Given the description of an element on the screen output the (x, y) to click on. 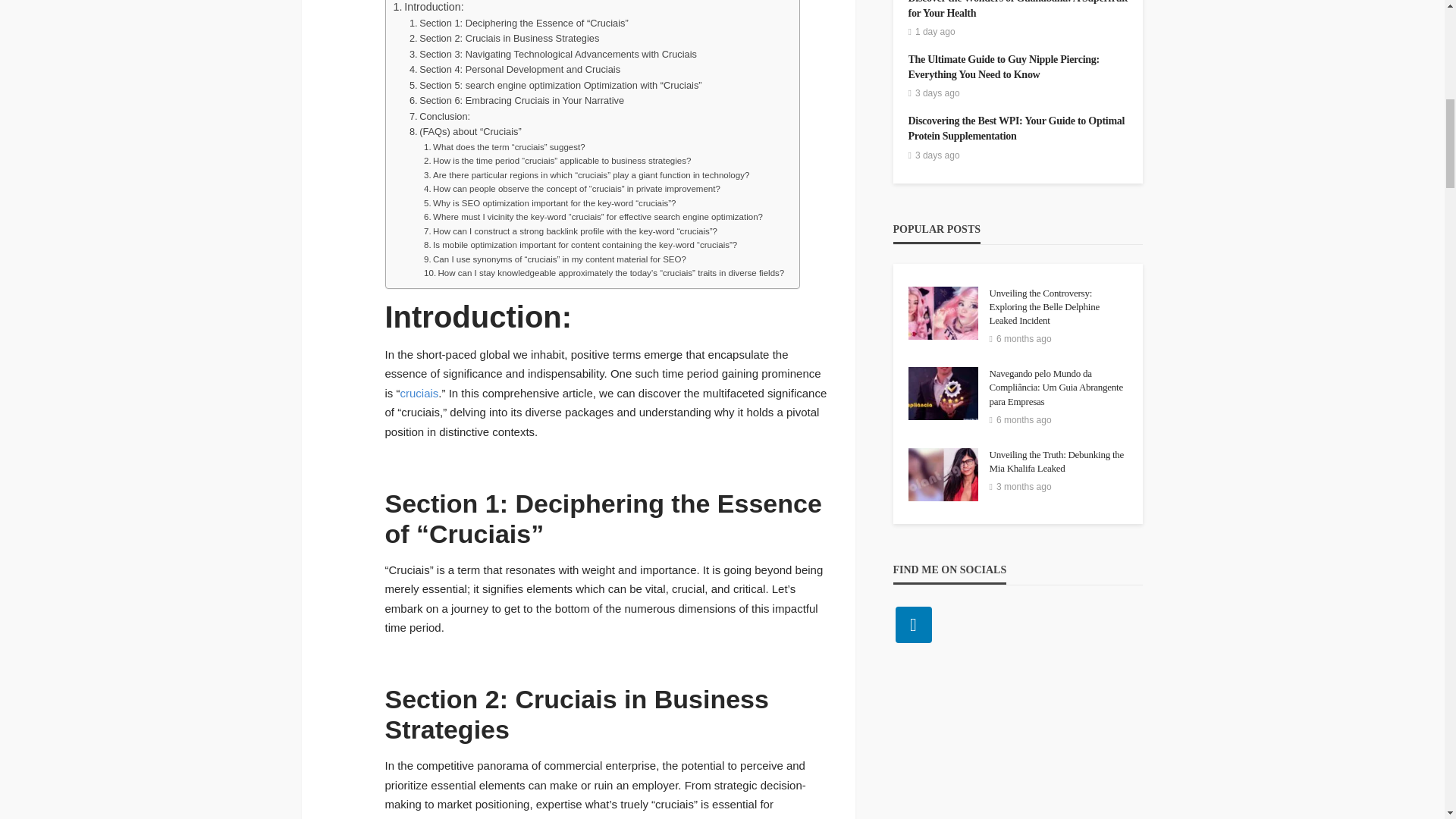
Introduction: (428, 7)
